Given the description of an element on the screen output the (x, y) to click on. 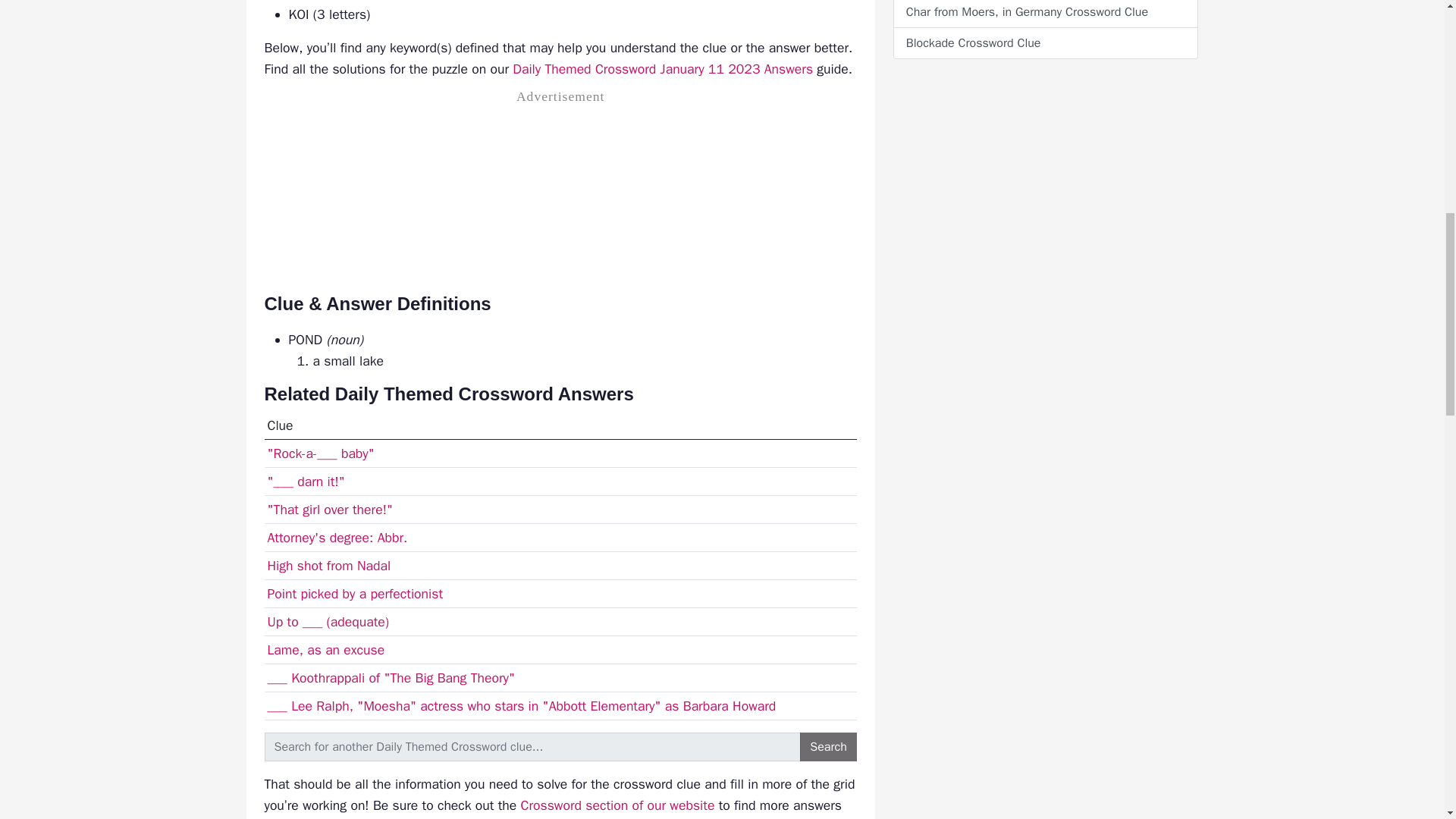
Search (828, 746)
